Given the description of an element on the screen output the (x, y) to click on. 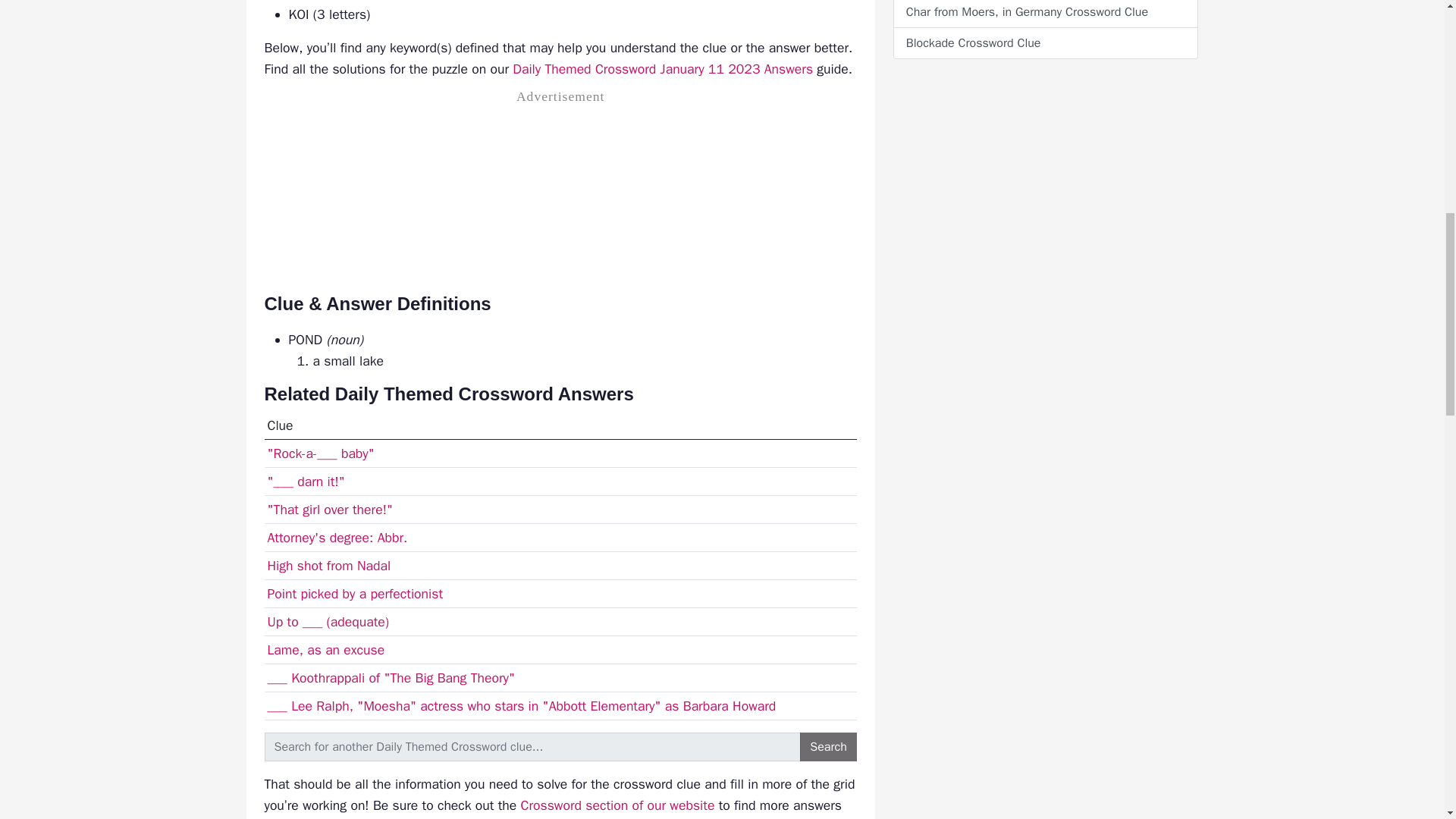
Search (828, 746)
